Given the description of an element on the screen output the (x, y) to click on. 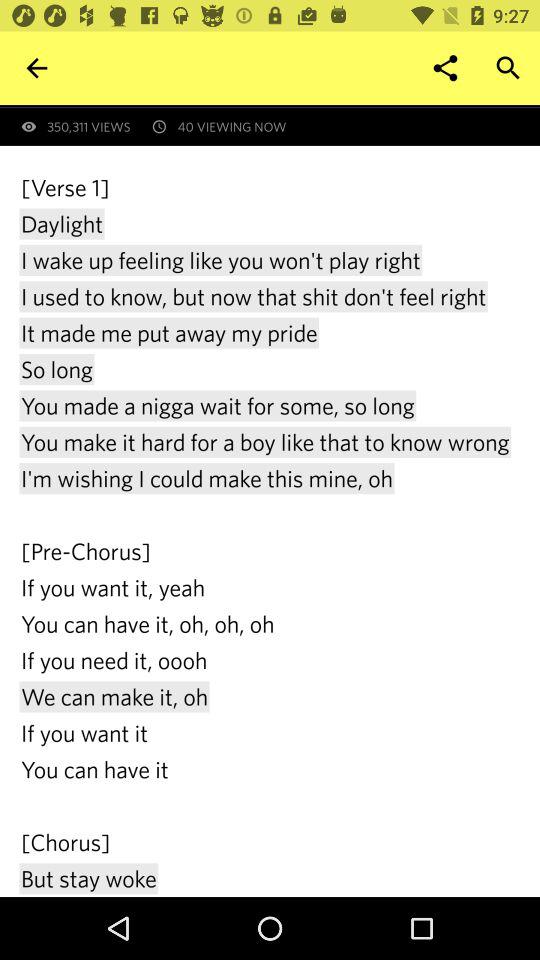
choose the item above first revealed at item (36, 68)
